Given the description of an element on the screen output the (x, y) to click on. 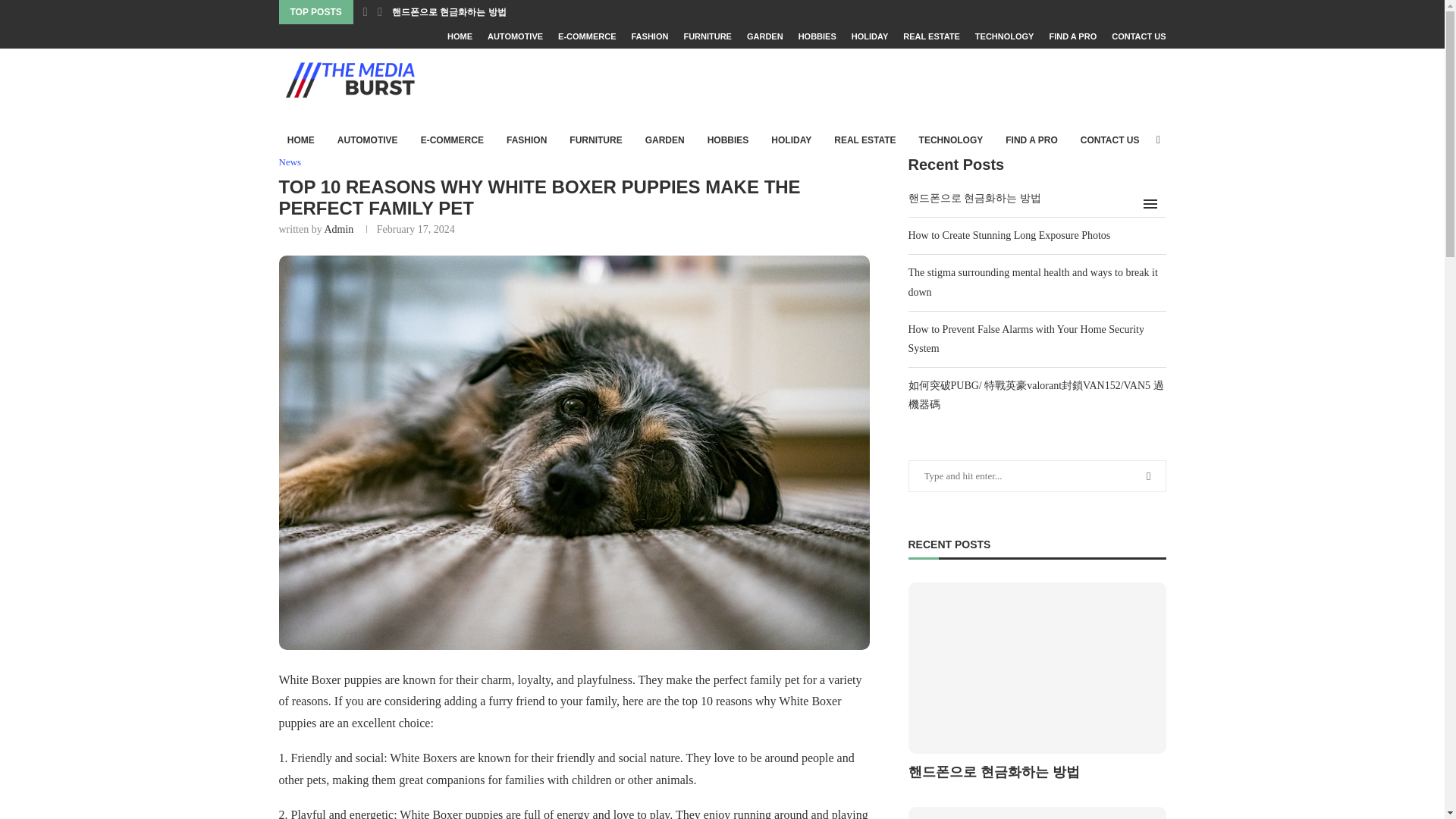
TECHNOLOGY (951, 139)
FIND A PRO (1072, 36)
GARDEN (764, 36)
REAL ESTATE (930, 36)
HOBBIES (816, 36)
AUTOMOTIVE (515, 36)
FURNITURE (707, 36)
HOME (458, 36)
E-COMMERCE (586, 36)
TECHNOLOGY (1004, 36)
